Given the description of an element on the screen output the (x, y) to click on. 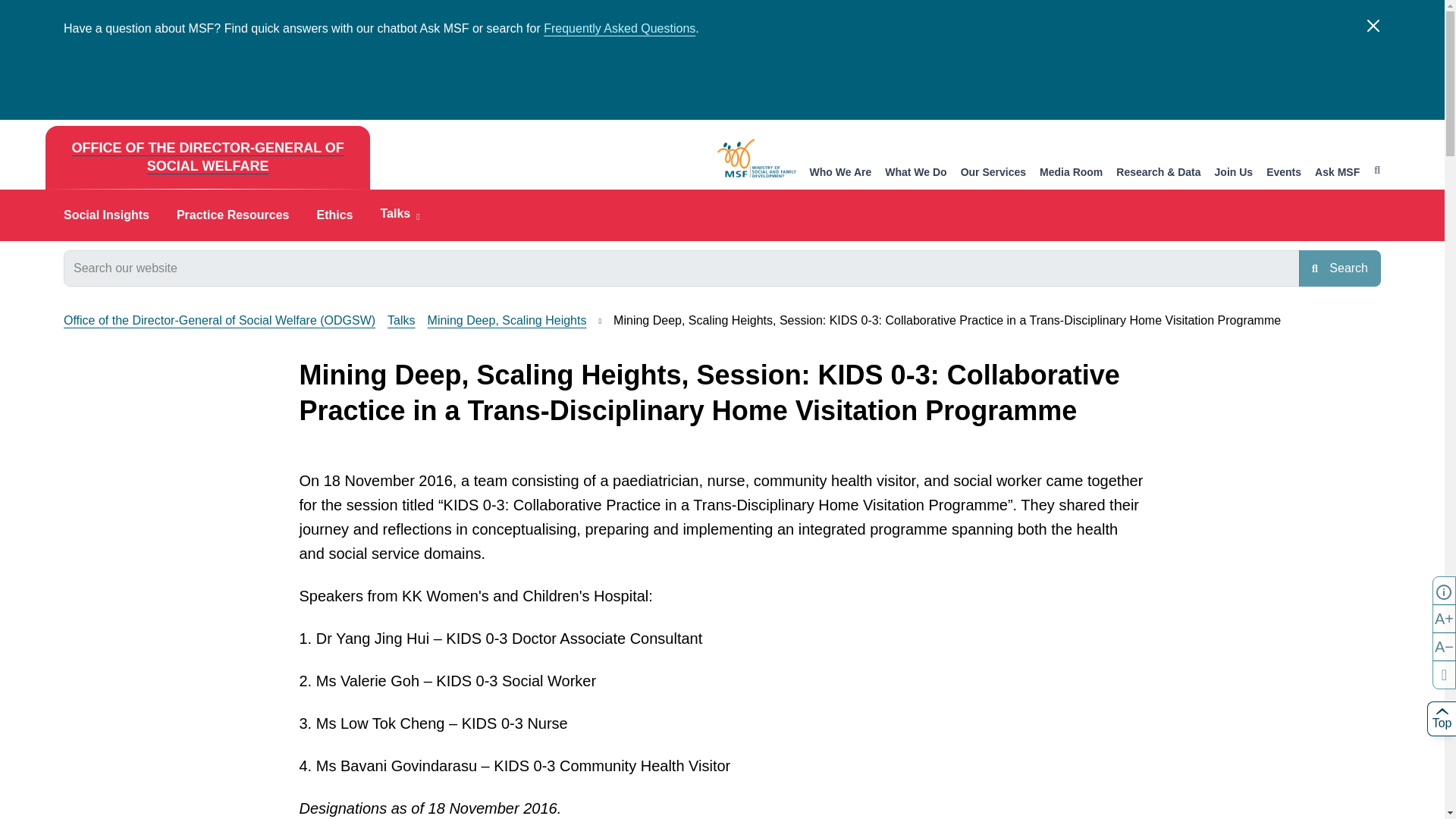
Join Us (1233, 172)
Frequently Asked Questions (619, 28)
MSF logo (756, 157)
Who We Are (840, 172)
Events (1283, 172)
What We Do (915, 172)
Our Services (993, 172)
OFFICE OF THE DIRECTOR-GENERAL OF SOCIAL WELFARE (207, 157)
Media Room (1070, 172)
Ask MSF (1336, 172)
